Given the description of an element on the screen output the (x, y) to click on. 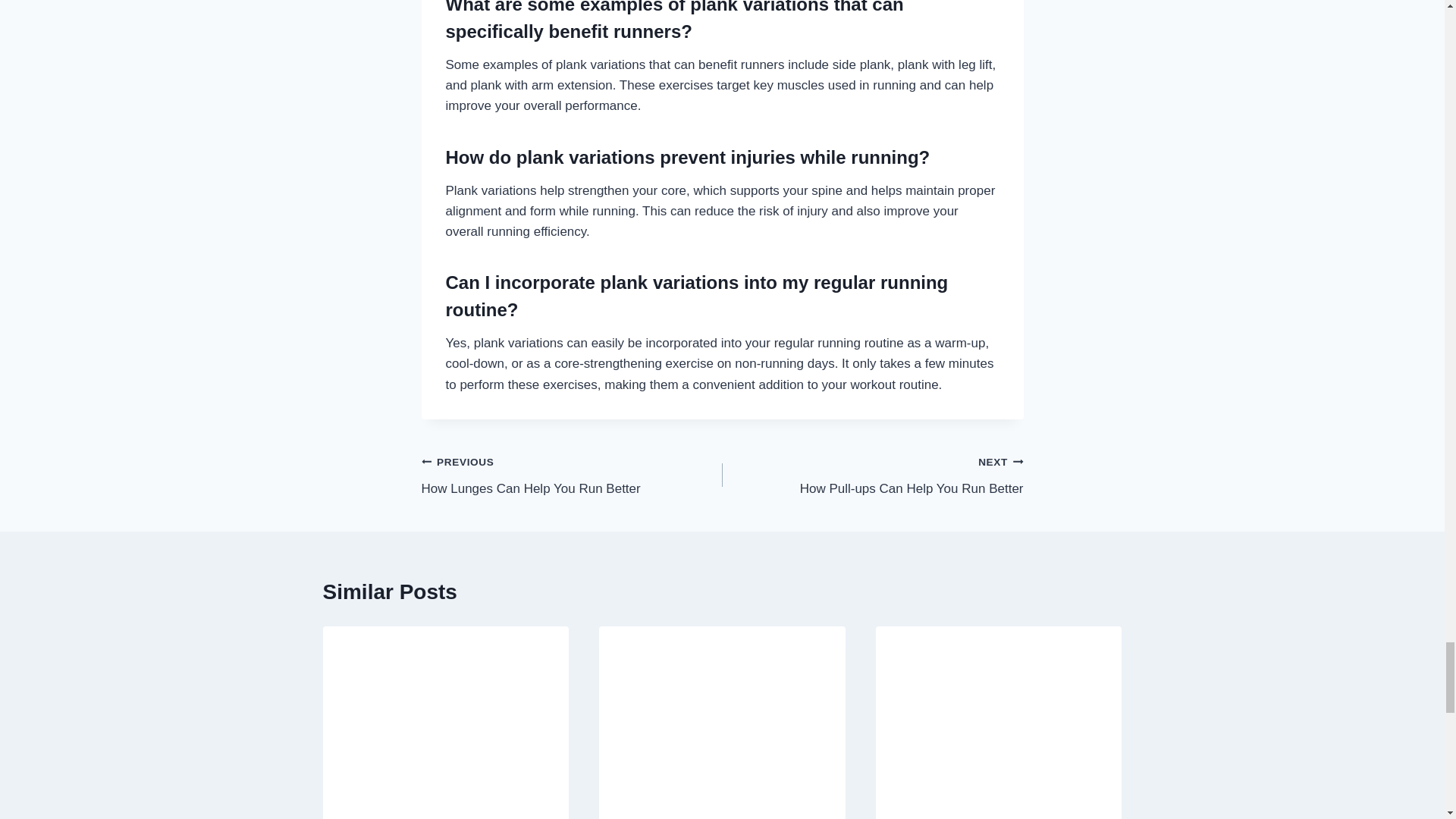
How Russian twists Can Help You Run Better (572, 474)
How Bird dogs Can Help You Run Better (872, 474)
